Given the description of an element on the screen output the (x, y) to click on. 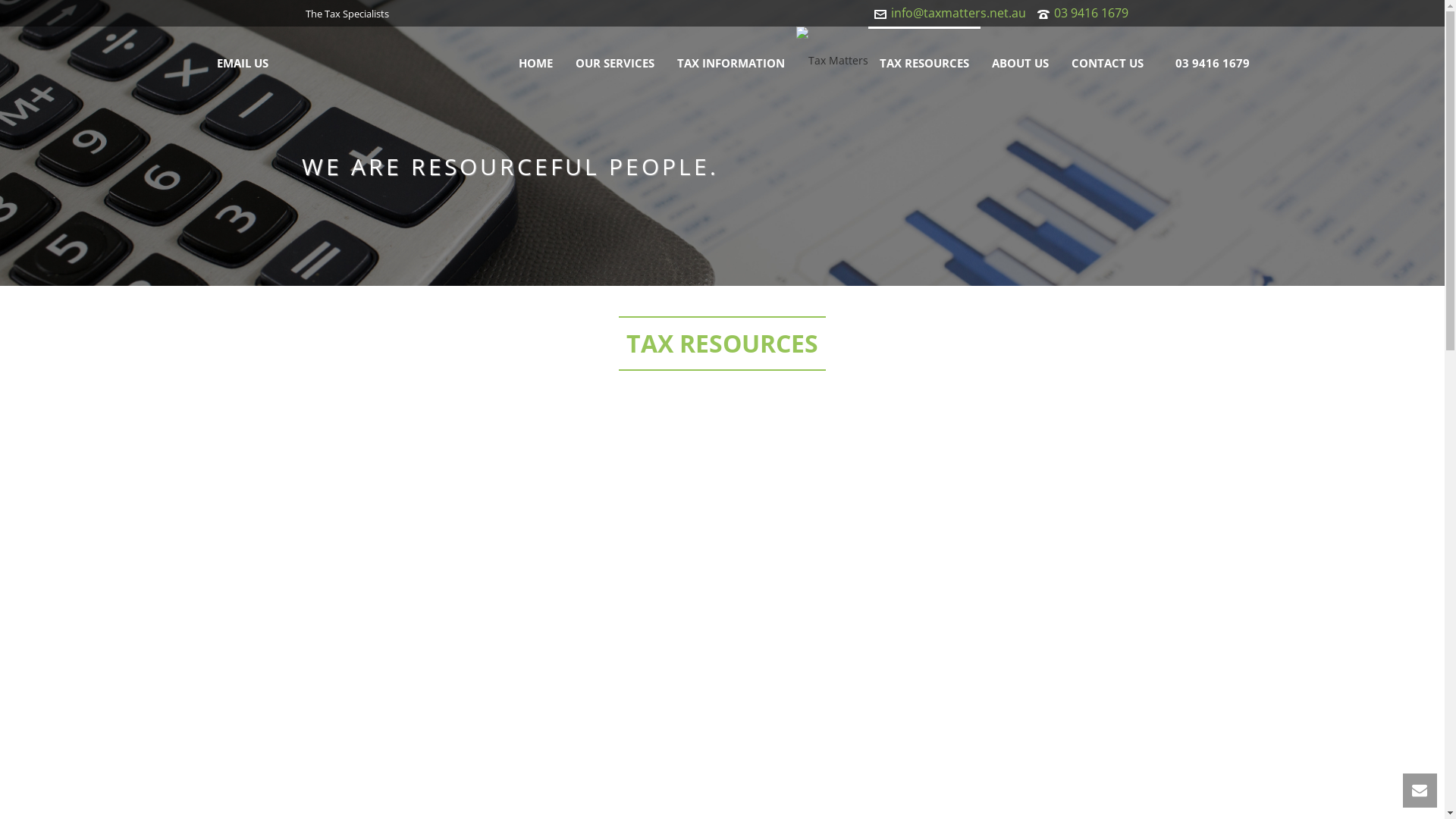
EMAIL US Element type: text (241, 60)
03 9416 1679 Element type: text (1091, 12)
ABOUT US Element type: text (1019, 60)
Tax Matters Element type: hover (832, 60)
03 9416 1679 Element type: text (1211, 60)
TAX RESOURCES Element type: text (923, 60)
CONTACT US Element type: text (1107, 60)
OUR SERVICES Element type: text (614, 60)
TAX INFORMATION Element type: text (730, 60)
HOME Element type: text (534, 60)
info@taxmatters.net.au Element type: text (957, 12)
